Given the description of an element on the screen output the (x, y) to click on. 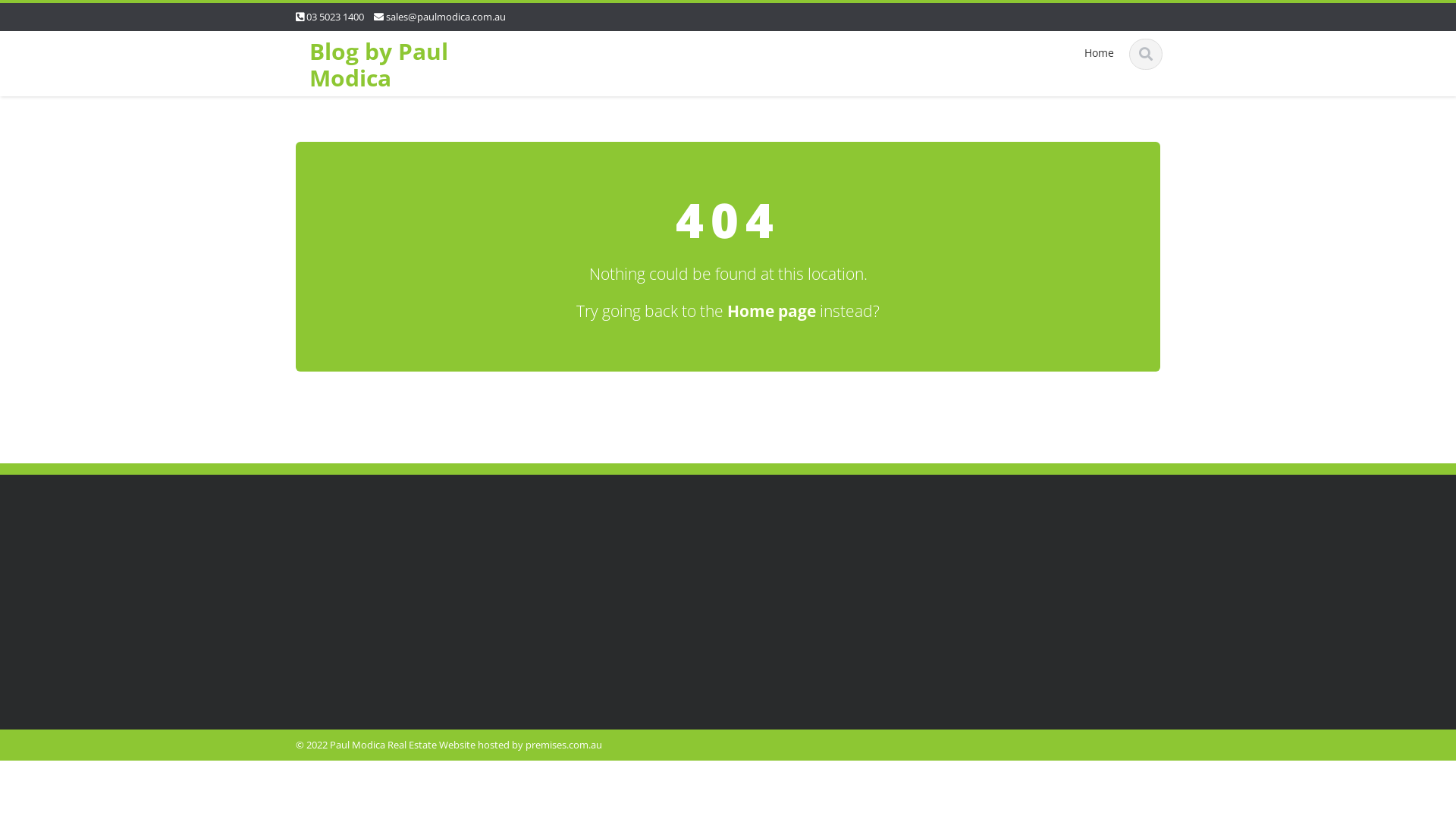
Home page Element type: text (771, 310)
sales@paulmodica.com.au Element type: text (445, 16)
03 5023 1400 Element type: text (335, 16)
Home Element type: text (1098, 53)
Blog by Paul Modica Element type: text (378, 64)
